Given the description of an element on the screen output the (x, y) to click on. 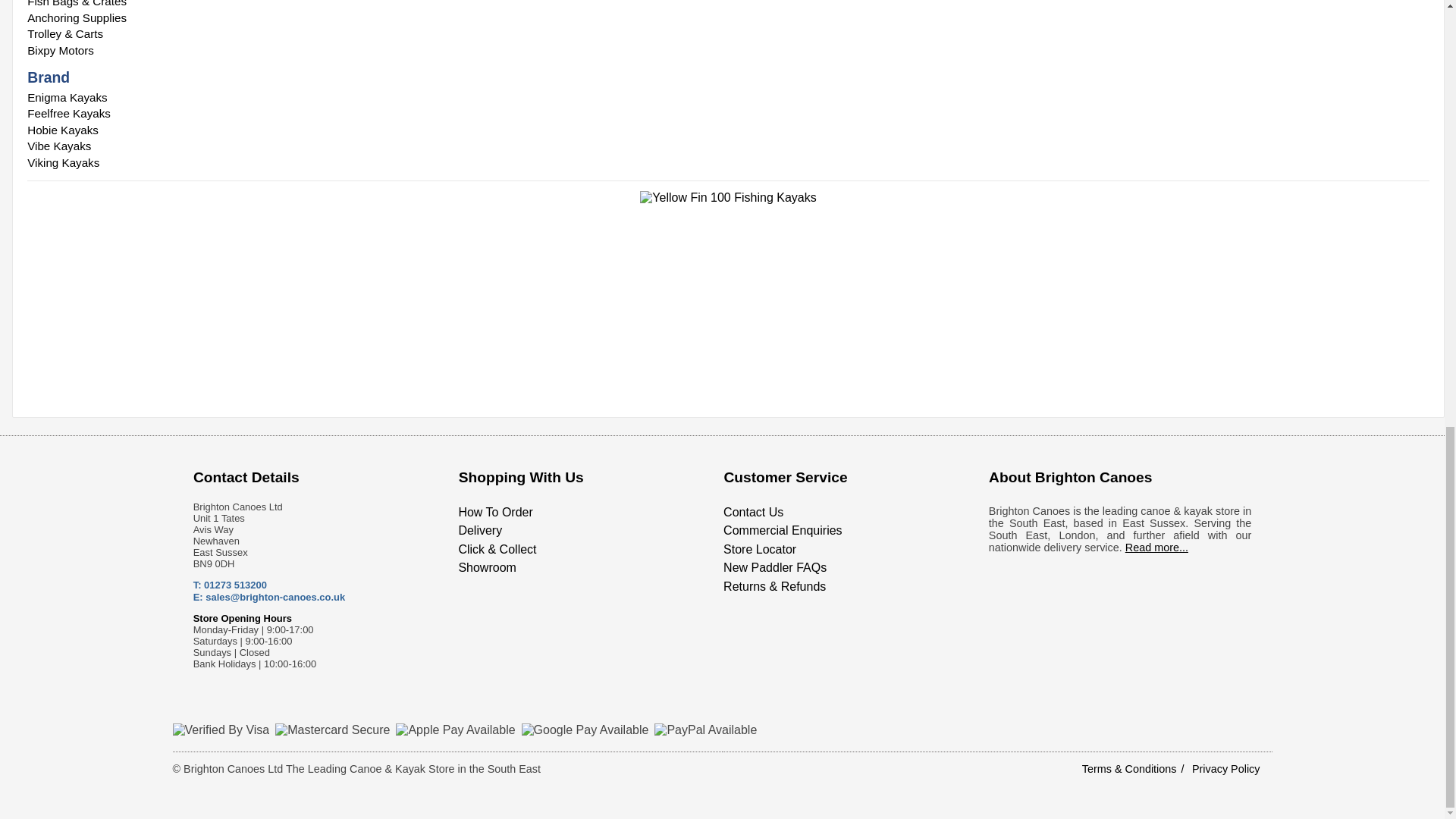
T: 01273 513200 (229, 584)
Feelfree Kayaks (728, 113)
Viking Kayaks (728, 162)
Hobie Kayaks (728, 130)
Showroom (486, 567)
Bixpy Motors (728, 49)
How To Order (495, 512)
Brand (48, 76)
Enigma Kayaks (728, 96)
Vibe Kayaks (728, 146)
Vibe Kayaks Yellow Fin 100 Offer (727, 295)
Delivery (480, 530)
Contact Us (753, 512)
Anchoring Supplies (728, 17)
